Given the description of an element on the screen output the (x, y) to click on. 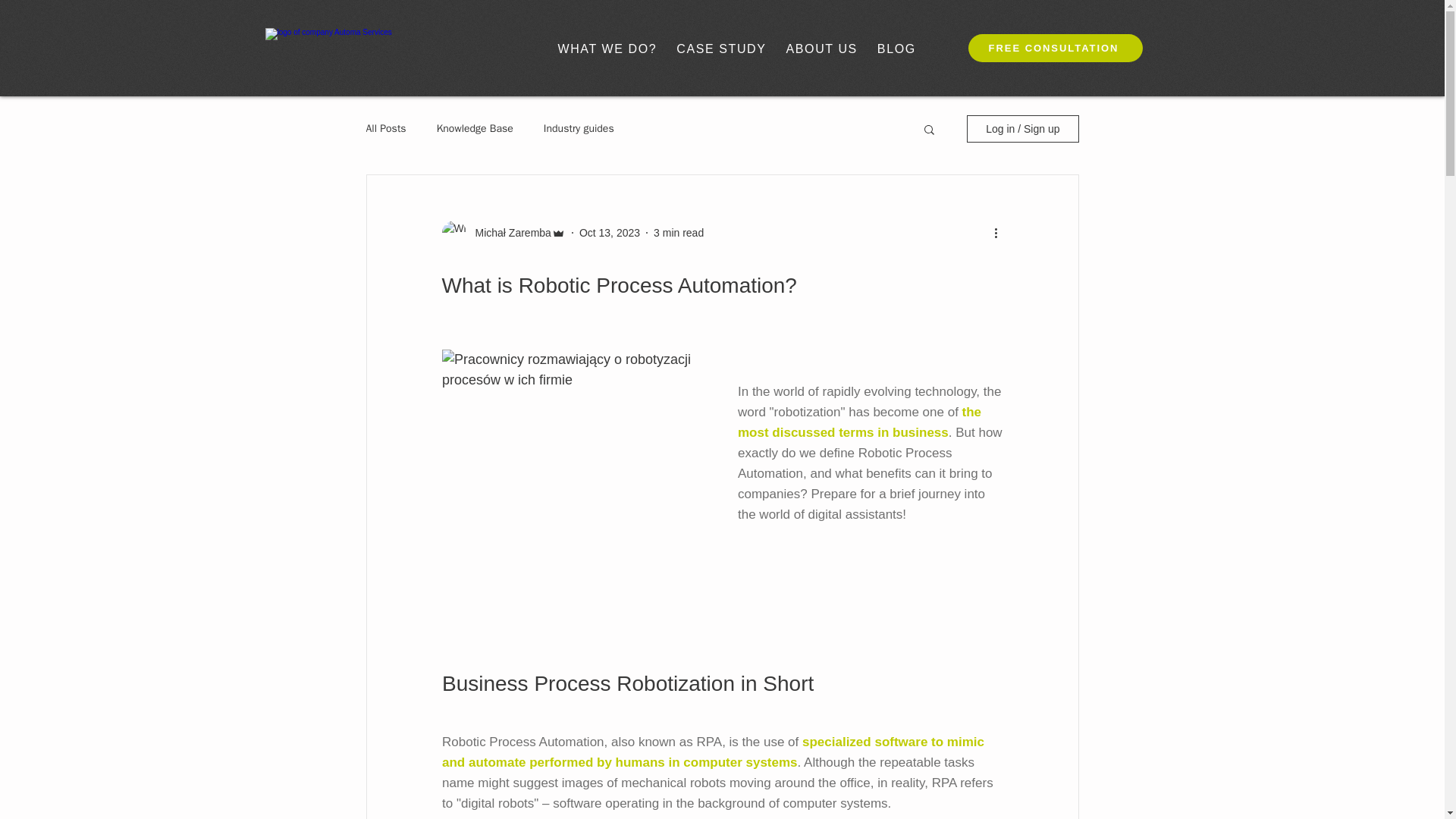
Knowledge Base (474, 128)
All Posts (385, 128)
FREE CONSULTATION (1054, 48)
BLOG (896, 49)
Industry guides (578, 128)
ABOUT US (822, 49)
CASE STUDY (721, 49)
Oct 13, 2023 (609, 232)
3 min read (678, 232)
